Given the description of an element on the screen output the (x, y) to click on. 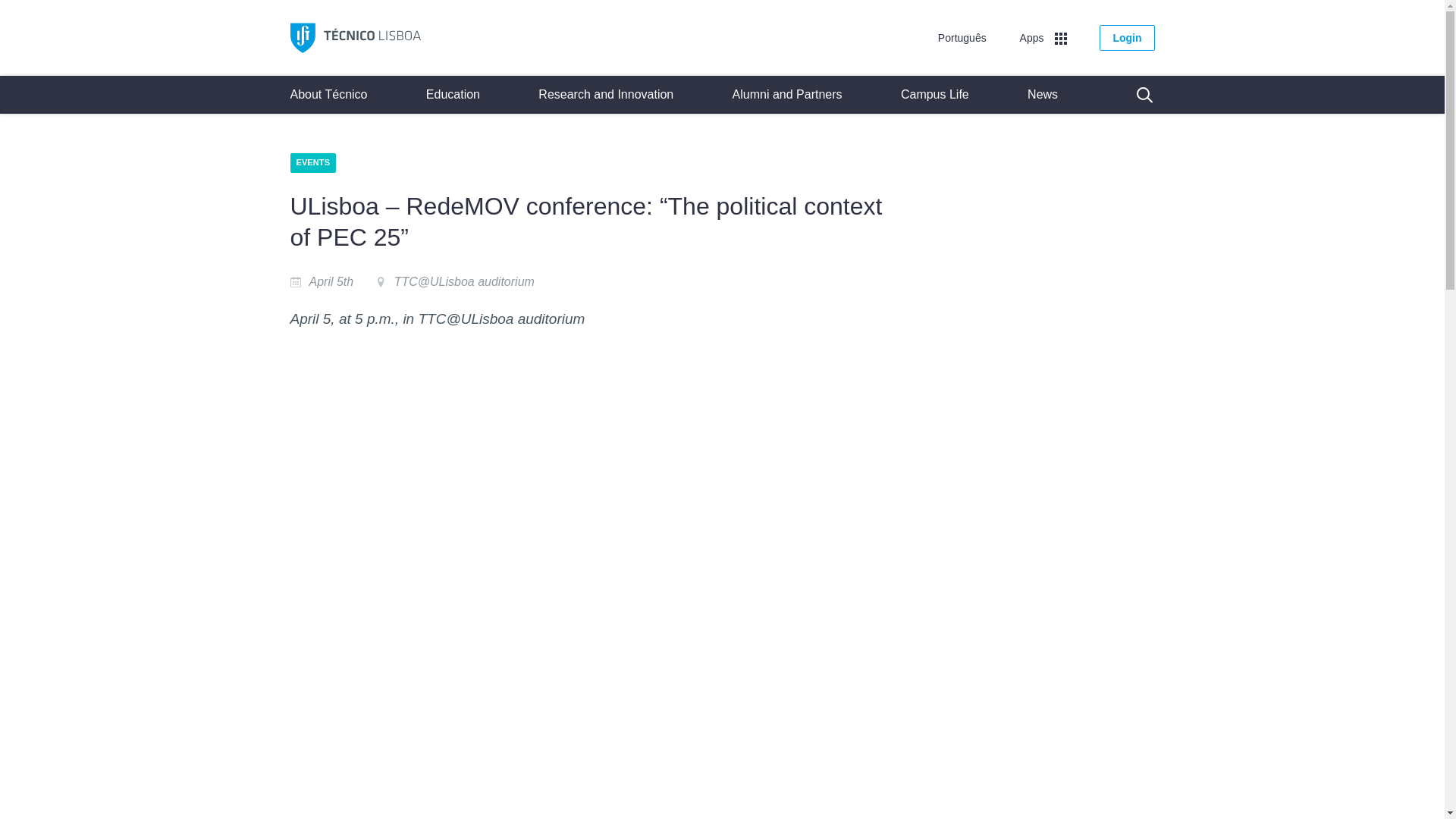
Apps (1043, 36)
Education (453, 94)
Login (1126, 36)
